Given the description of an element on the screen output the (x, y) to click on. 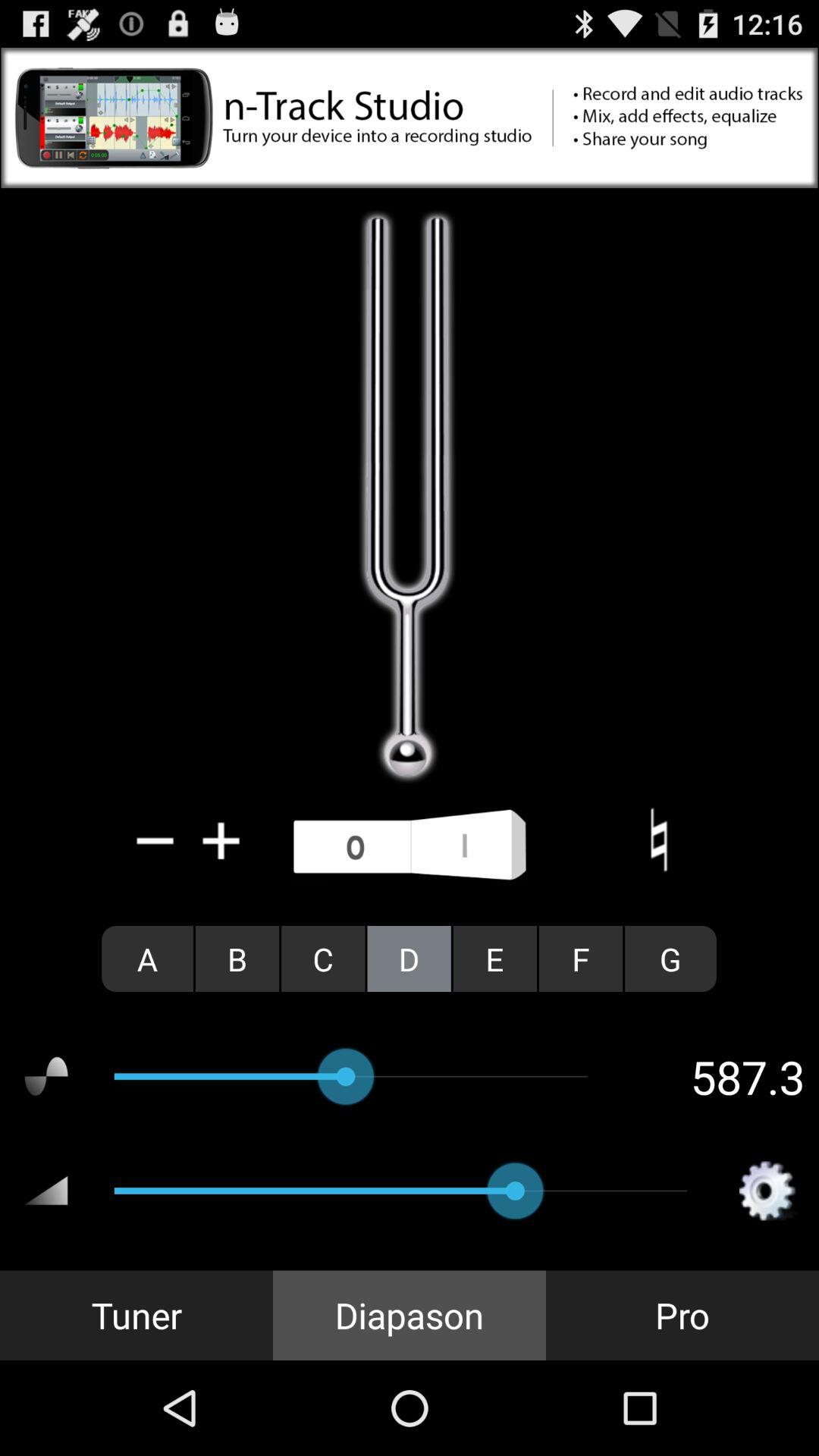
use microphone (409, 846)
